Given the description of an element on the screen output the (x, y) to click on. 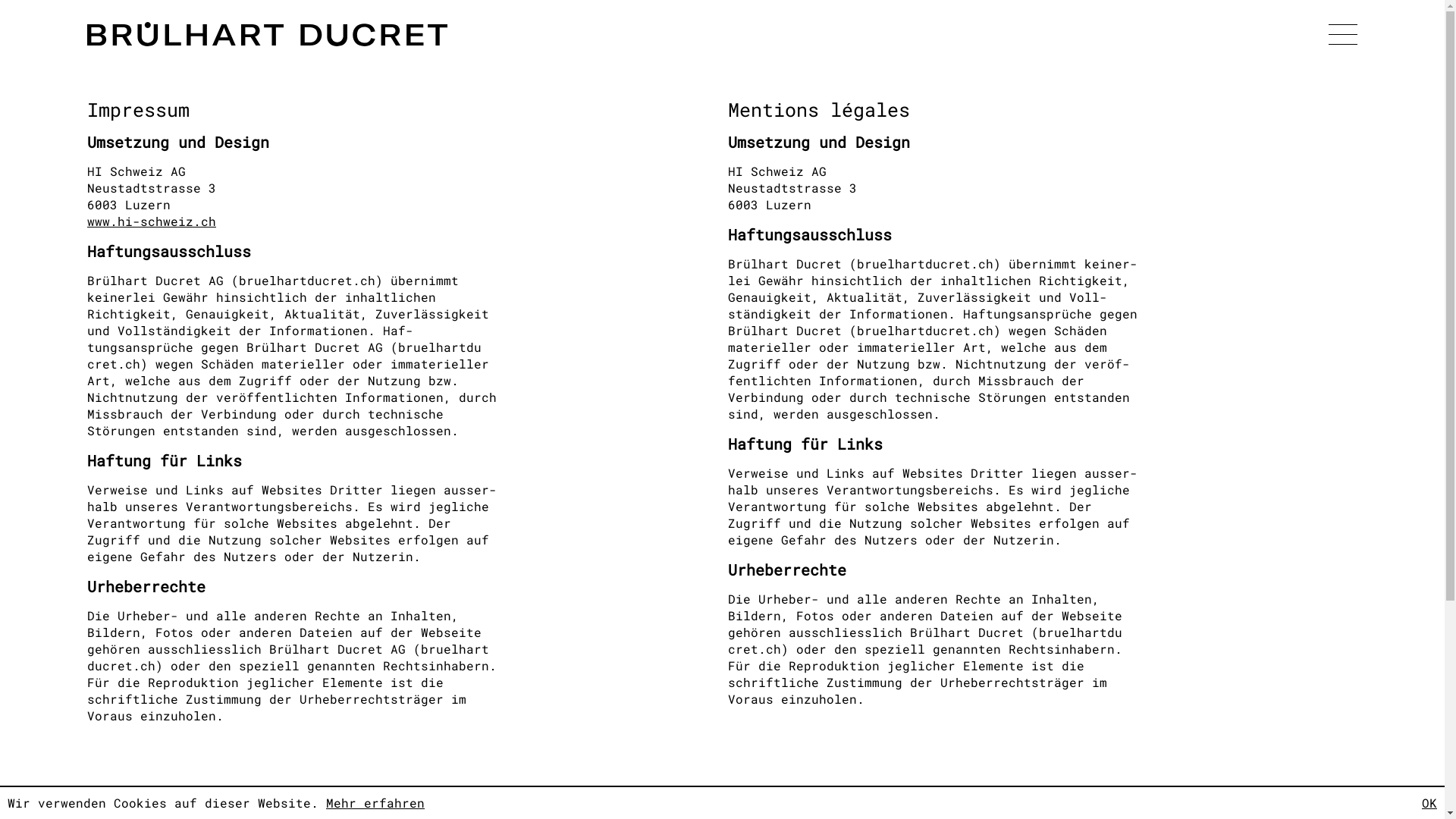
www.hi-schweiz.ch Element type: text (151, 229)
Mehr erfahren Element type: text (375, 802)
